Given the description of an element on the screen output the (x, y) to click on. 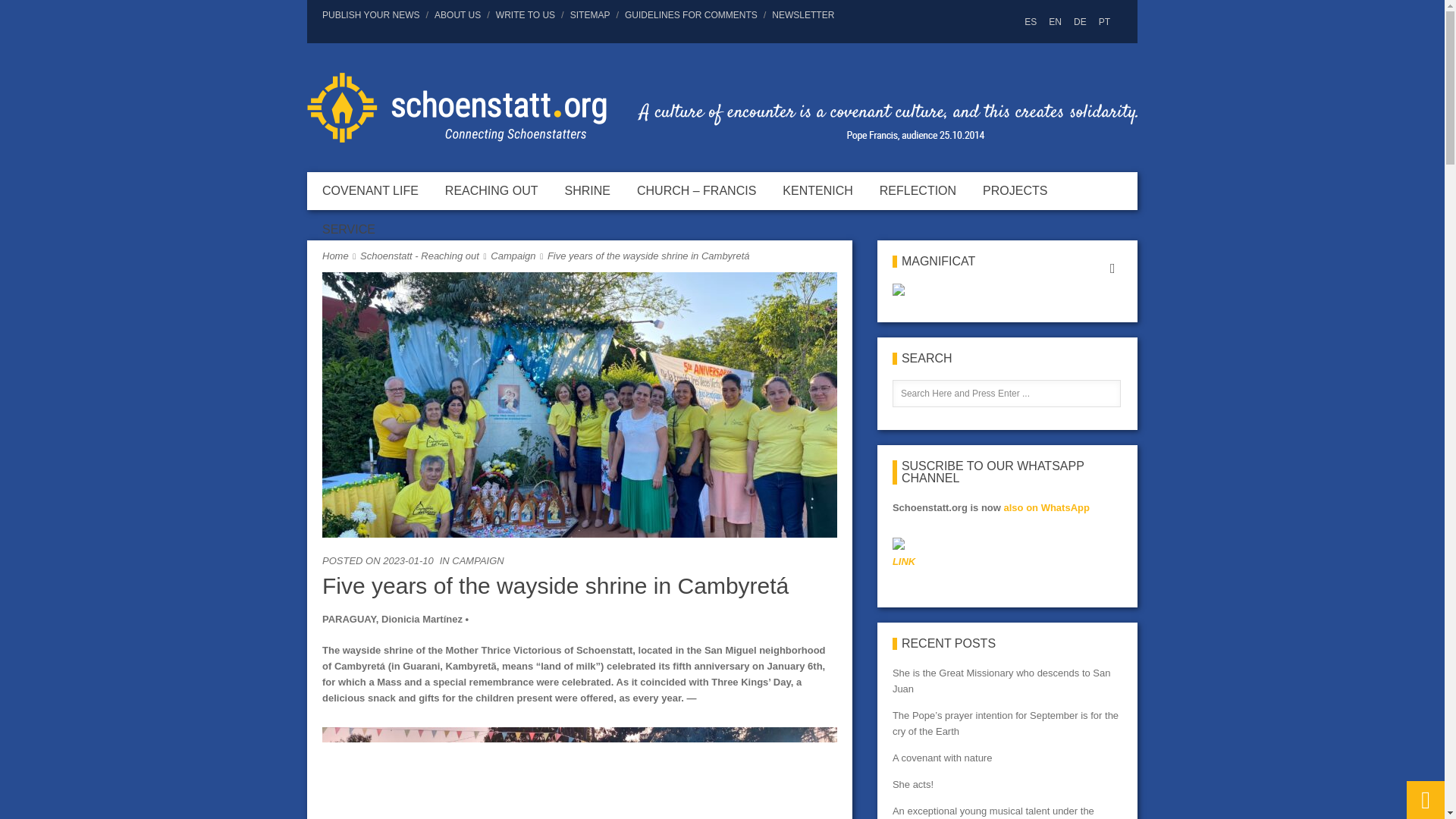
COVENANT LIFE (370, 190)
REFLECTION (917, 190)
REACHING OUT (491, 190)
WRITE TO US (524, 14)
KENTENICH (817, 190)
NEWSLETTER (799, 14)
PROJECTS (1014, 190)
Search Here and Press Enter ... (1006, 393)
GUIDELINES FOR COMMENTS (690, 14)
PUBLISH YOUR NEWS (373, 14)
